Given the description of an element on the screen output the (x, y) to click on. 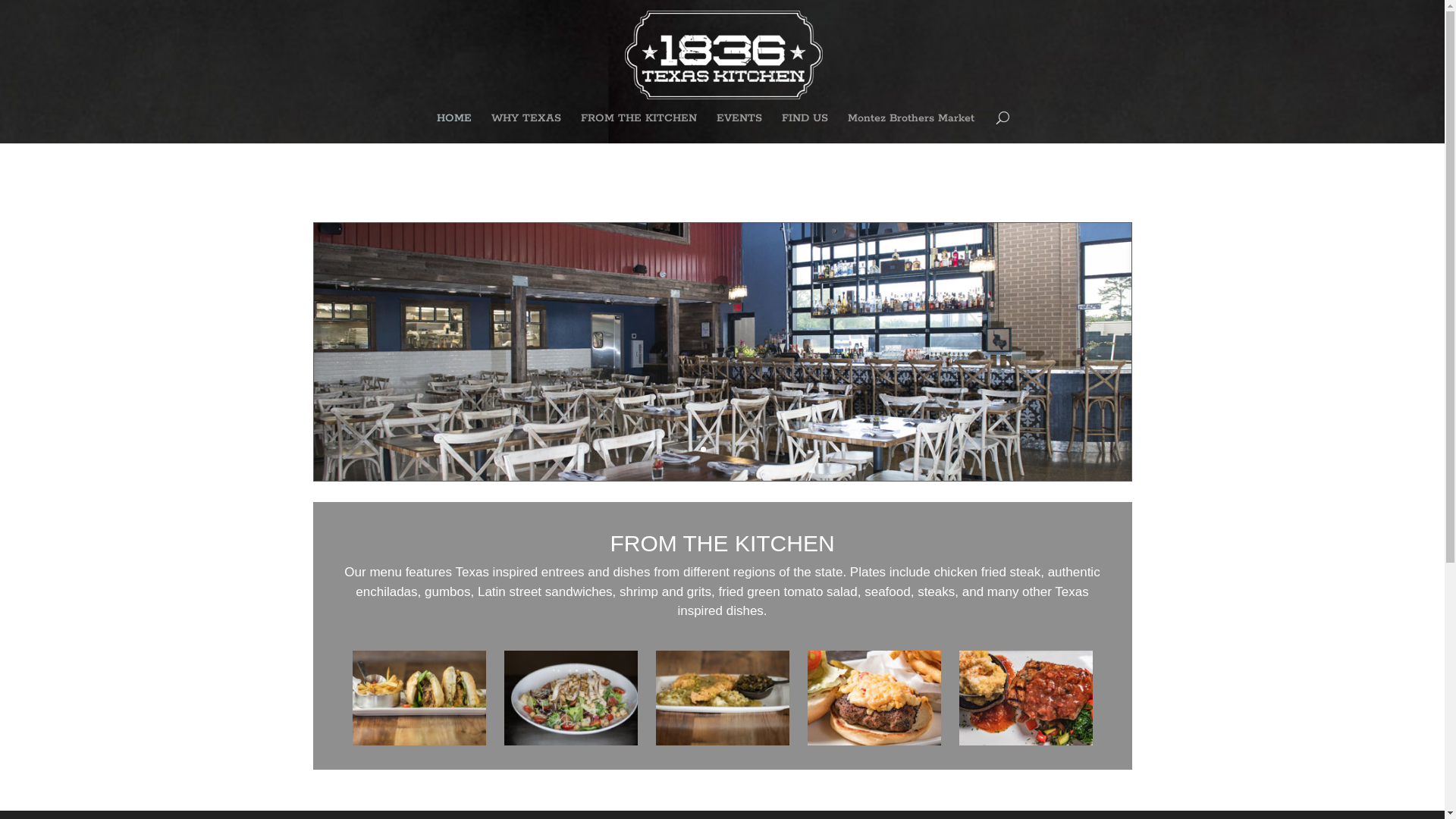
Montez Brothers Market Element type: text (910, 127)
5 Element type: text (740, 448)
6 Element type: text (754, 448)
4 Element type: text (728, 448)
1 Element type: text (689, 448)
WHY TEXAS Element type: text (526, 127)
3 Element type: text (715, 448)
HOME Element type: text (453, 127)
FIND US Element type: text (804, 127)
EVENTS Element type: text (739, 127)
2 Element type: text (703, 448)
FROM THE KITCHEN Element type: text (721, 542)
FROM THE KITCHEN Element type: text (638, 127)
